Given the description of an element on the screen output the (x, y) to click on. 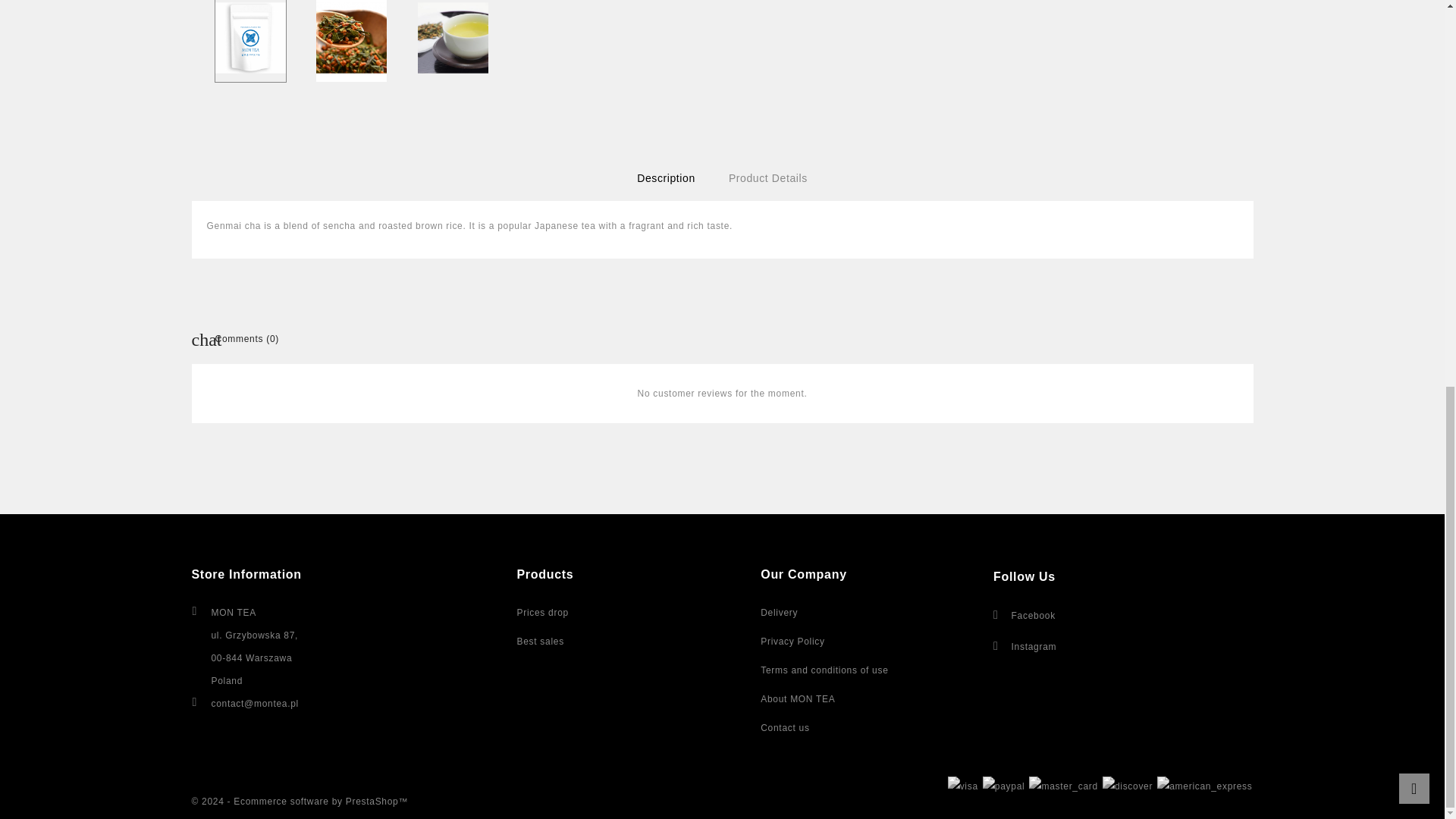
Our best sales (540, 641)
Our special products (542, 612)
Our terms and conditions of delivery (778, 612)
Description (665, 177)
Our terms and conditions of use (824, 670)
Product Details (767, 177)
